Given the description of an element on the screen output the (x, y) to click on. 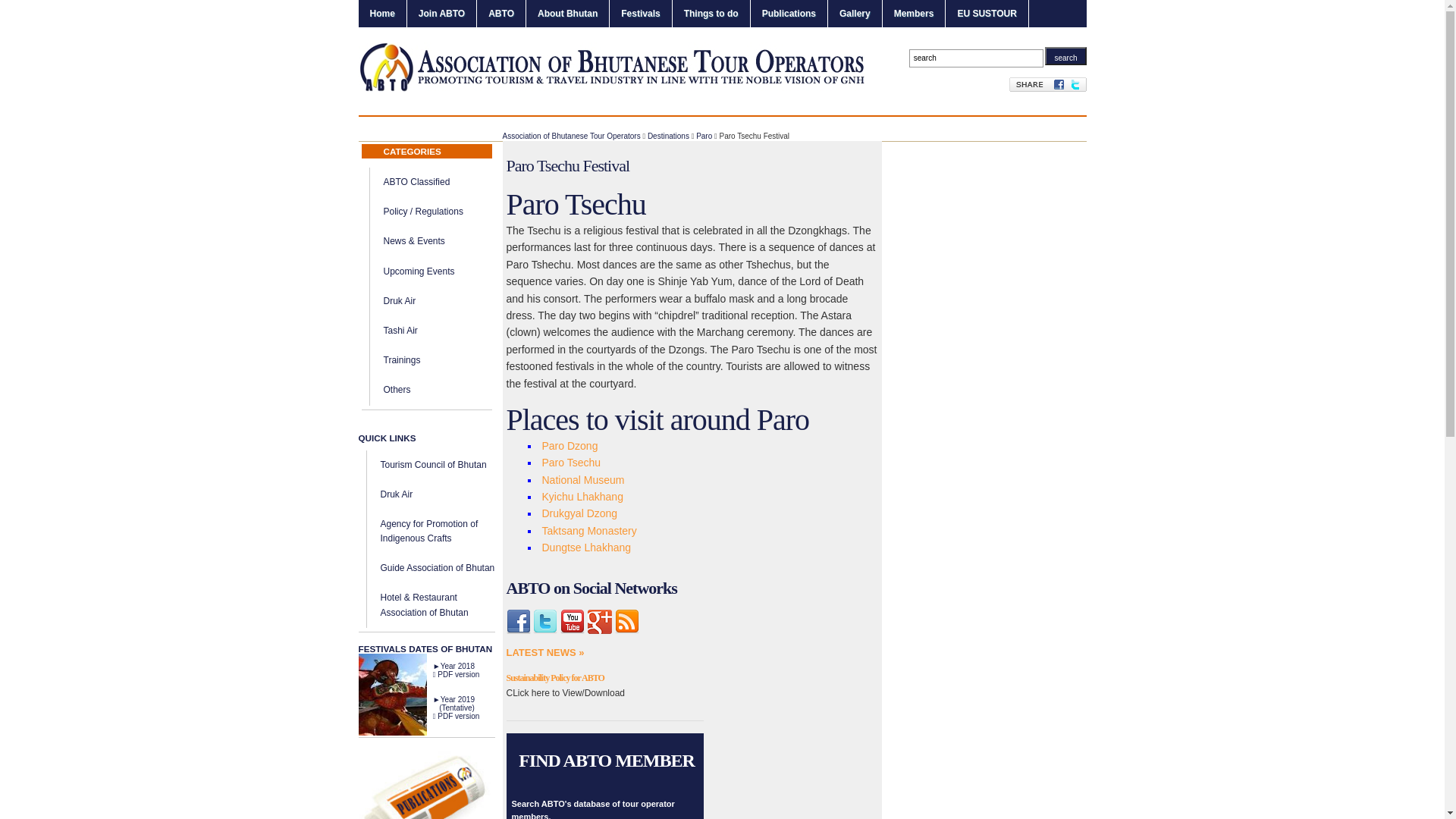
Home Element type: text (381, 13)
Policy / Regulations Element type: text (423, 211)
Guide Association of Bhutan Element type: text (437, 567)
search Element type: text (1064, 56)
Sustainability Policy for ABTO Element type: text (555, 677)
EU SUSTOUR Element type: text (986, 13)
Gallery Element type: text (854, 13)
Publications Element type: text (788, 13)
Tourism Council of Bhutan Element type: text (433, 464)
Association of Bhutanese Tour Operators Element type: text (571, 135)
Upcoming Events Element type: text (419, 271)
Kyichu Lhakhang Element type: text (581, 496)
Trainings Element type: text (401, 359)
Paro Dzong Element type: text (569, 445)
Dungtse Lhakhang Element type: text (585, 547)
Taktsang Monastery Element type: text (588, 530)
Agency for Promotion of Indigenous Crafts Element type: text (429, 530)
Druk Air Element type: text (396, 494)
ABTO Classified Element type: text (416, 181)
Tashi Air Element type: text (400, 330)
Hotel & Restaurant Association of Bhutan Element type: text (424, 604)
News & Events Element type: text (414, 240)
Things to do Element type: text (710, 13)
Druk Air Element type: text (399, 300)
National Museum Element type: text (582, 479)
Paro Element type: text (704, 135)
Drukgyal Dzong Element type: text (579, 513)
Join ABTO Element type: text (441, 13)
Paro Tsechu Element type: text (570, 462)
Others Element type: text (397, 389)
Festivals Element type: text (640, 13)
ABTO Element type: text (500, 13)
About Bhutan Element type: text (567, 13)
Members Element type: text (913, 13)
Destinations Element type: text (668, 135)
